Given the description of an element on the screen output the (x, y) to click on. 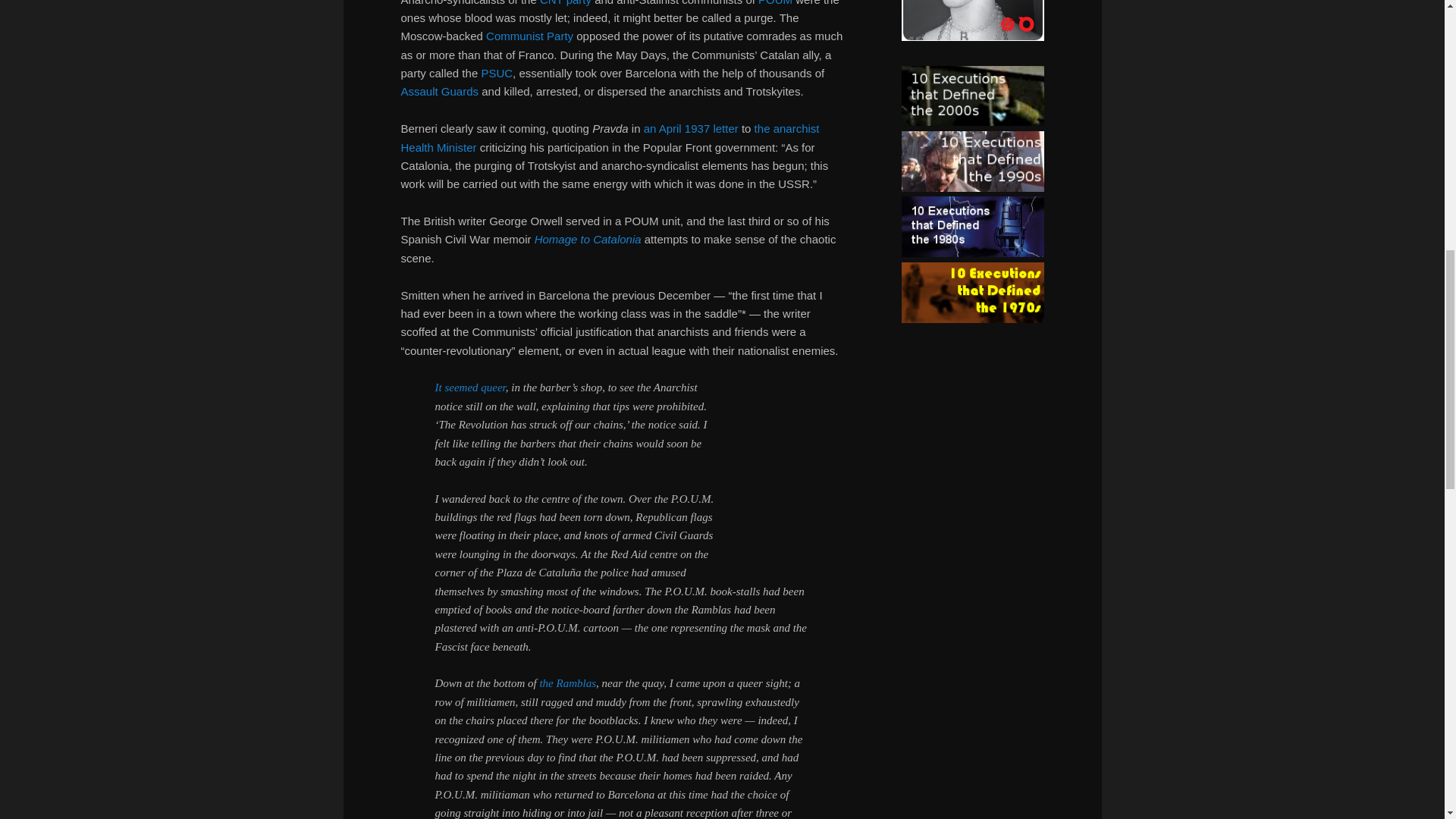
POUM (775, 2)
It seemed queer (470, 387)
PSUC (496, 72)
CNT party (565, 2)
the anarchist Health Minister (609, 137)
the Ramblas (566, 683)
an April 1937 letter (690, 128)
Communist Party (529, 35)
Assault Guards (439, 91)
Homage to Catalonia (588, 238)
